Given the description of an element on the screen output the (x, y) to click on. 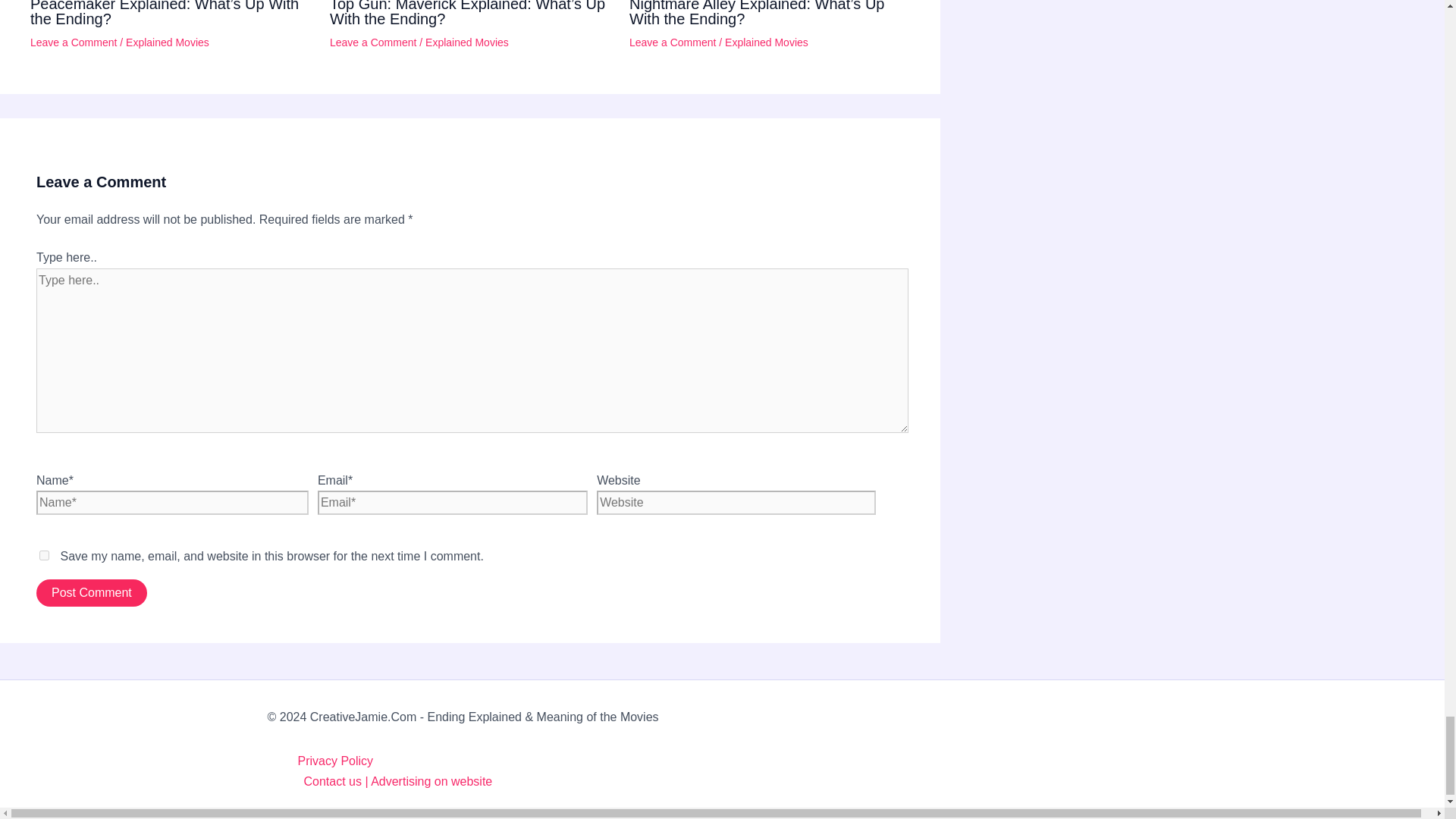
Leave a Comment (373, 42)
Leave a Comment (672, 42)
Privacy Policy (736, 761)
Post Comment (91, 592)
Explained Movies (766, 42)
Explained Movies (466, 42)
Post Comment (91, 592)
yes (44, 555)
Explained Movies (167, 42)
Leave a Comment (73, 42)
